Given the description of an element on the screen output the (x, y) to click on. 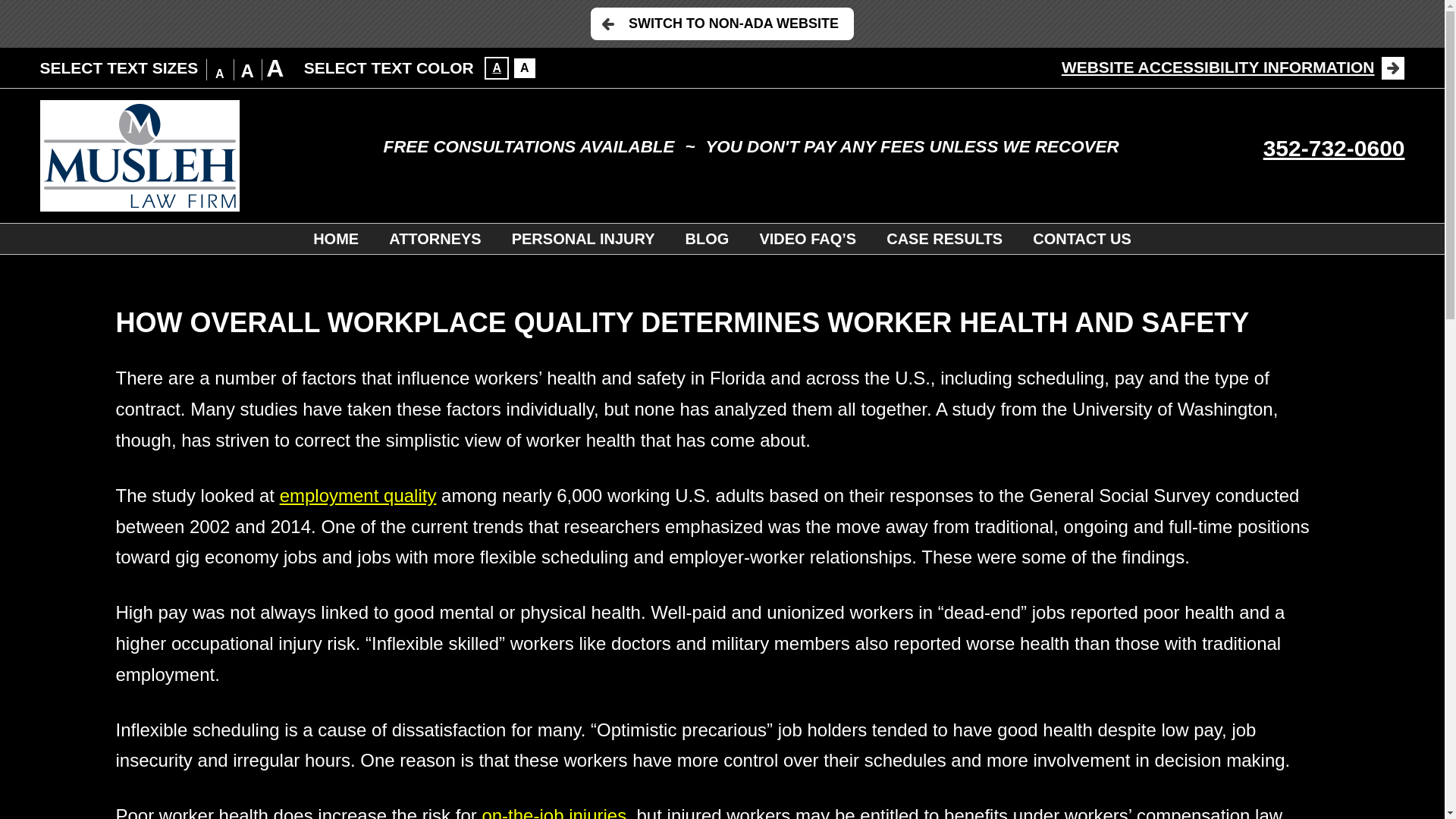
Invert Colors (524, 67)
A (274, 68)
PERSONAL INJURY (582, 238)
A (247, 71)
352-732-0600 (1334, 147)
WEBSITE ACCESSIBILITY INFORMATION (1233, 67)
ATTORNEYS (435, 238)
HOME (336, 238)
SWITCH TO NON-ADA WEBSITE (722, 23)
Invert Colors (496, 67)
A (524, 67)
Click to view external accessibility article (1233, 67)
A (496, 67)
A (219, 73)
